Given the description of an element on the screen output the (x, y) to click on. 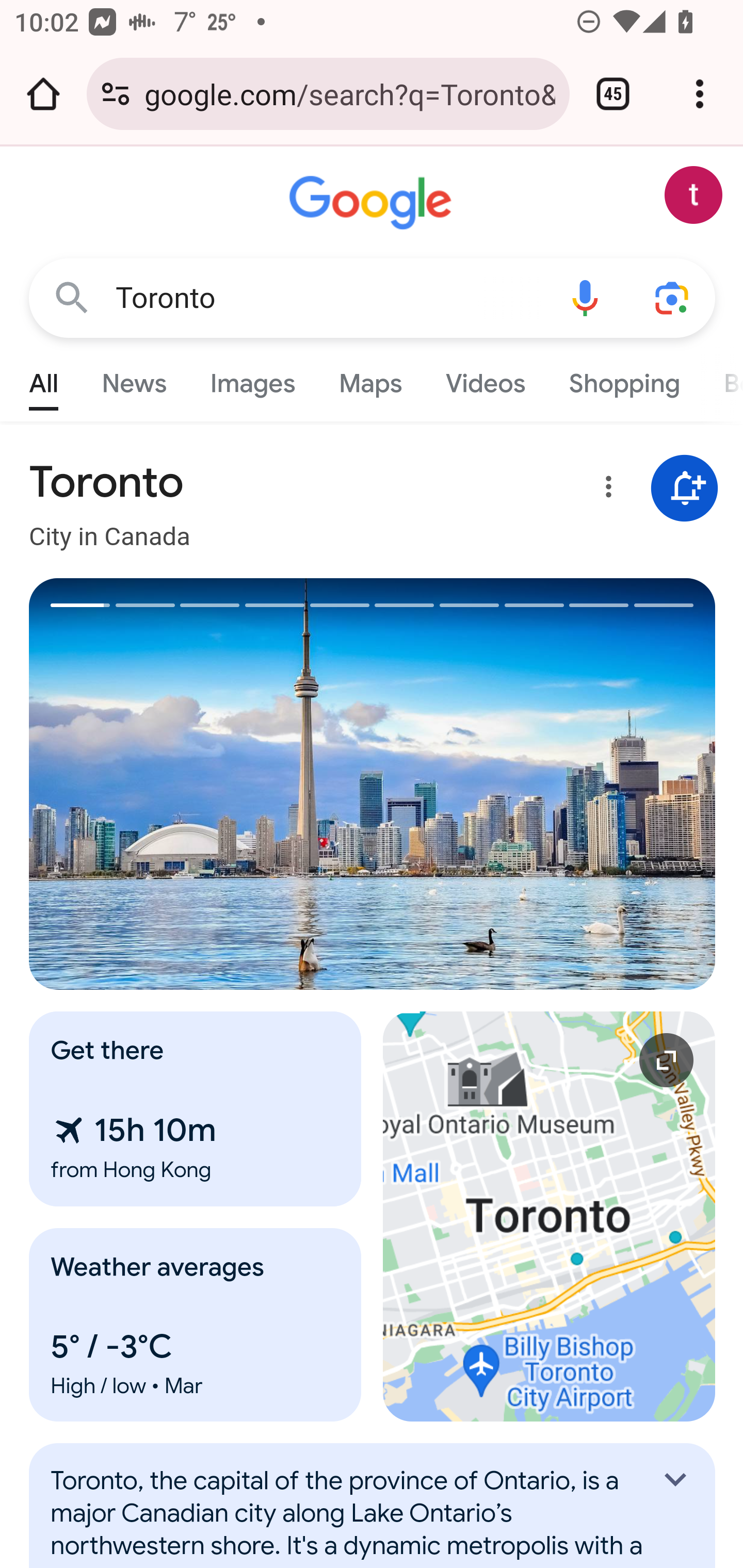
Open the home page (43, 93)
Connection is secure (115, 93)
Switch or close tabs (612, 93)
Customize and control Google Chrome (699, 93)
Google (372, 203)
Google Search (71, 296)
Search using your camera or photos (672, 296)
Toronto (328, 297)
News (134, 378)
Images (252, 378)
Maps (369, 378)
Videos (485, 378)
Shopping (623, 378)
Get notifications about Toronto (684, 489)
More options (605, 489)
Previous image (200, 783)
Next image (544, 783)
Expand map (549, 1216)
Weather averages 5° / -3°C High / low • Mar (195, 1324)
